Given the description of an element on the screen output the (x, y) to click on. 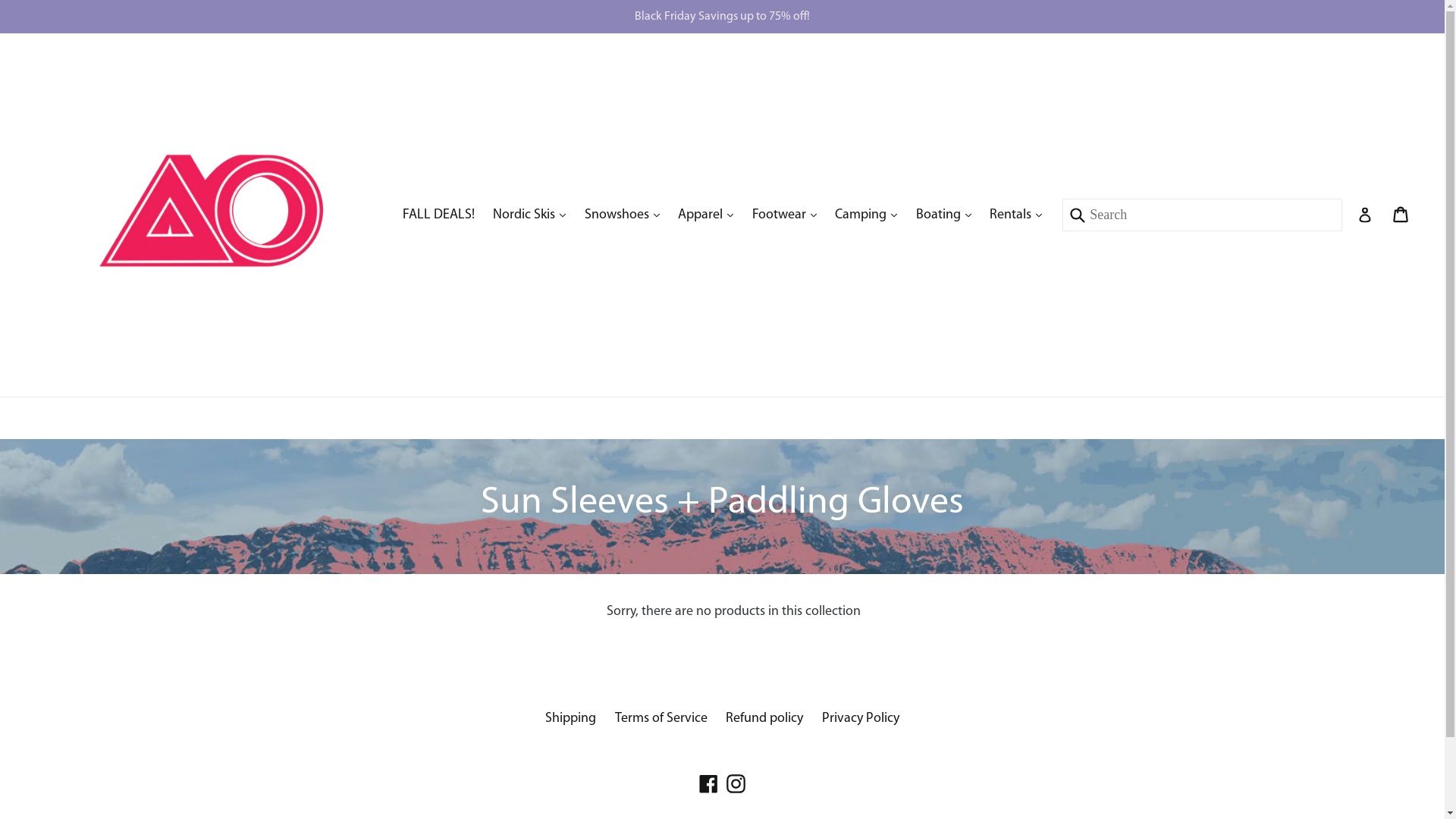
Shipping Element type: text (570, 718)
Log in Element type: text (1364, 214)
Submit Element type: text (721, 172)
Terms of Service Element type: text (661, 718)
Cart
Cart Element type: text (1401, 214)
Instagram Element type: text (735, 783)
FALL DEALS! Element type: text (438, 214)
Refund policy Element type: text (764, 718)
Submit Element type: text (1074, 215)
Privacy Policy Element type: text (860, 718)
Facebook Element type: text (708, 783)
